Given the description of an element on the screen output the (x, y) to click on. 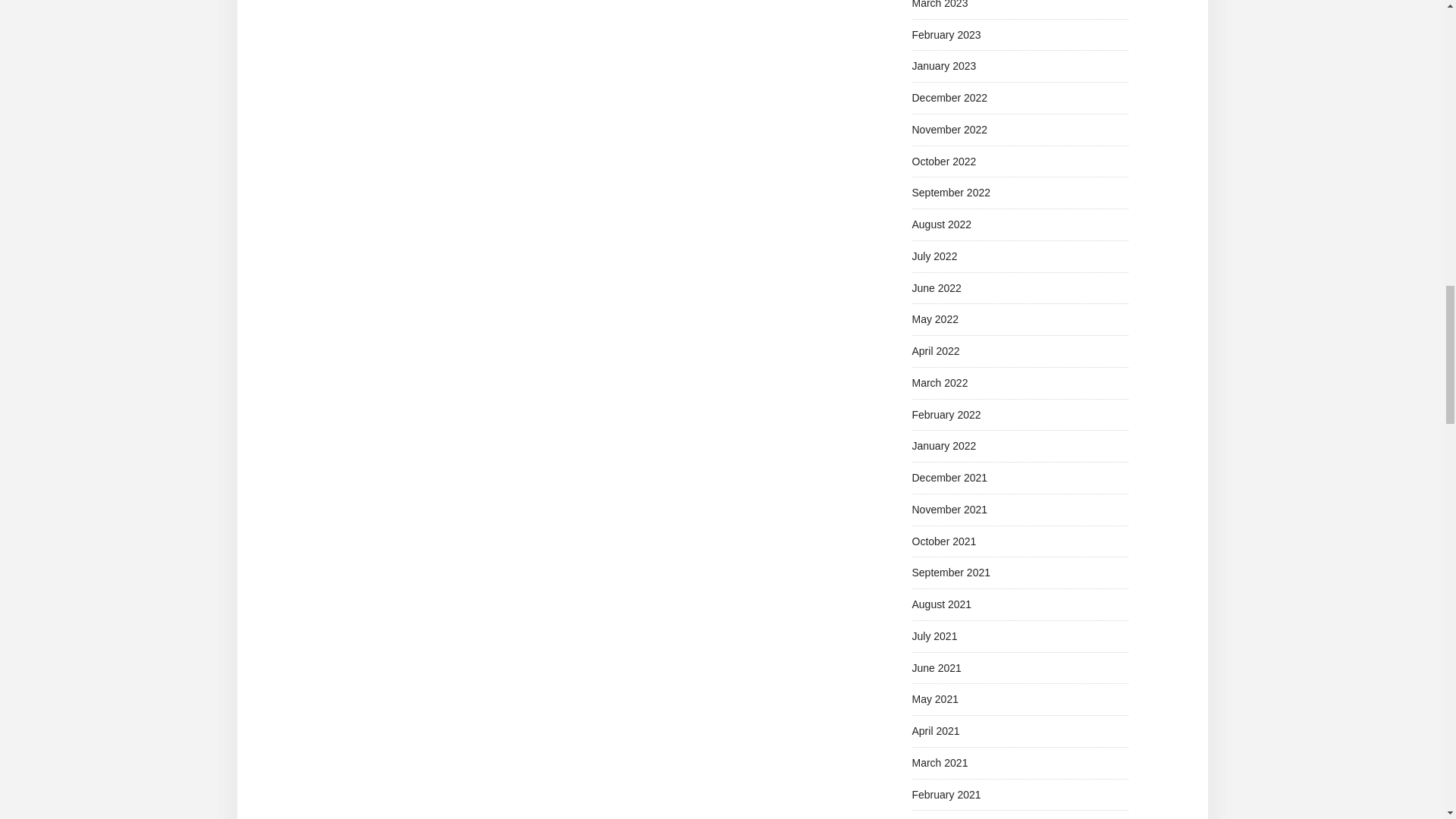
November 2022 (949, 129)
October 2022 (943, 160)
December 2022 (949, 97)
January 2023 (943, 65)
March 2023 (939, 4)
February 2023 (945, 34)
